Given the description of an element on the screen output the (x, y) to click on. 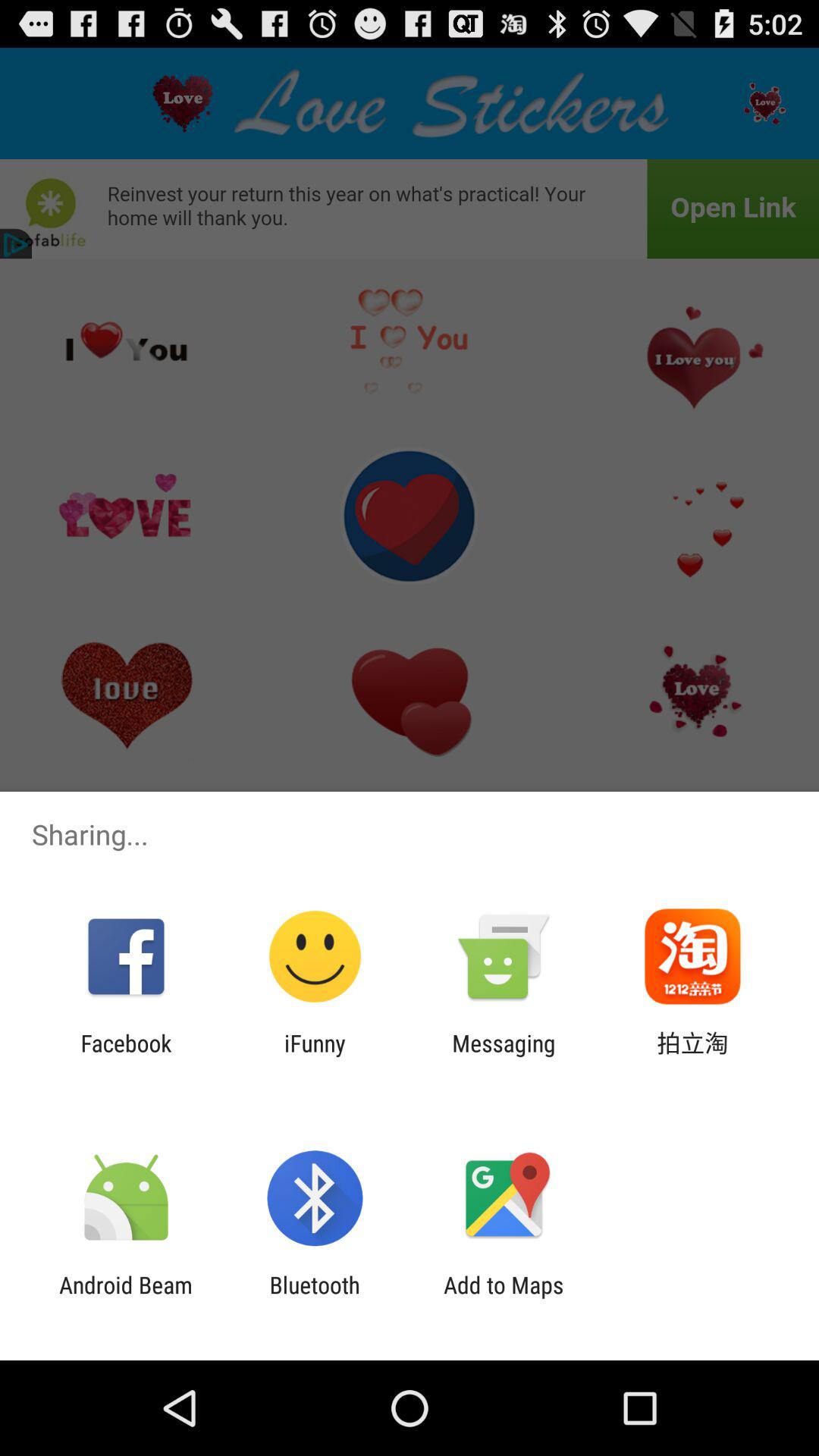
jump until the facebook icon (125, 1056)
